Given the description of an element on the screen output the (x, y) to click on. 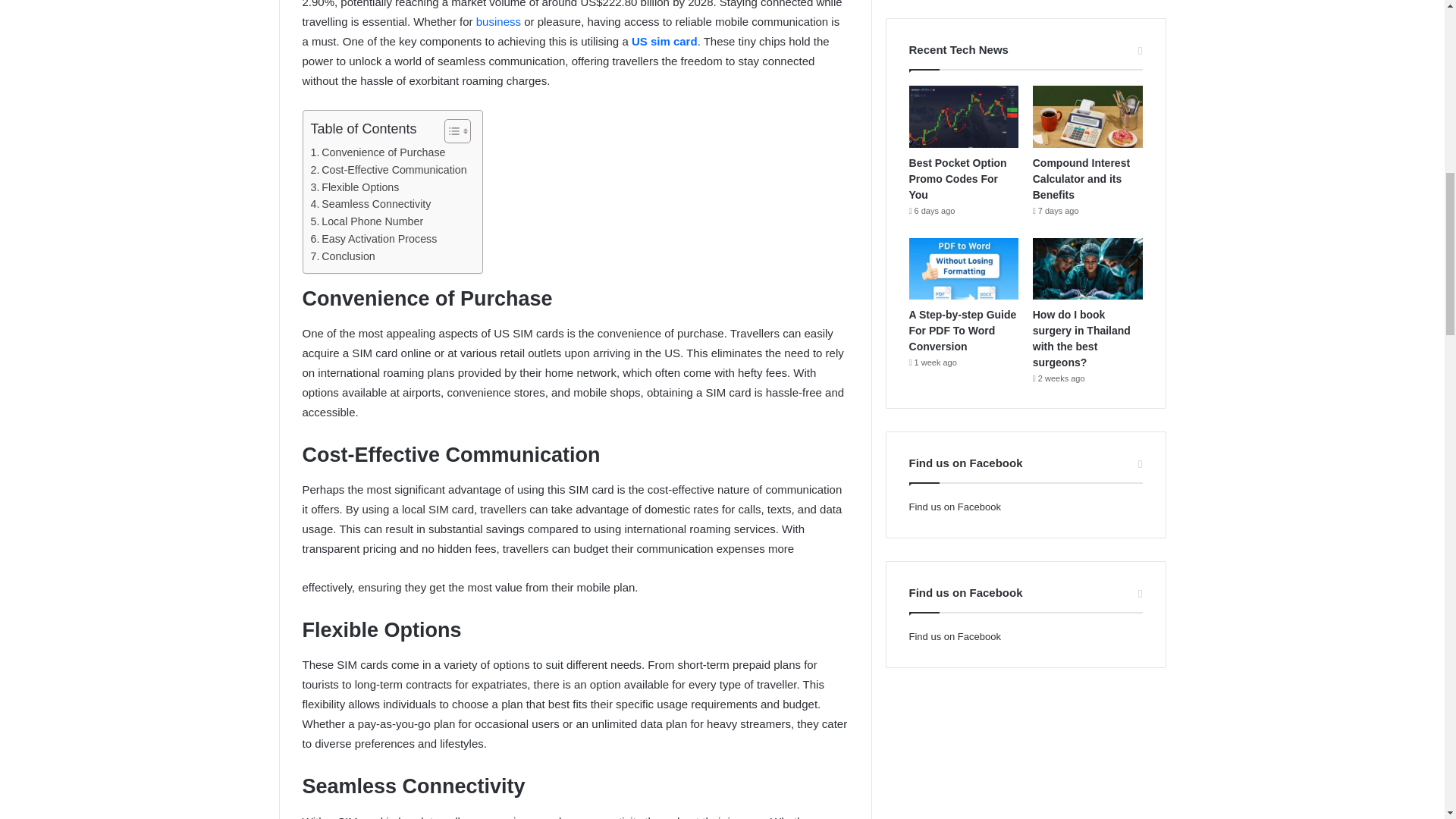
Flexible Options (354, 187)
Cost-Effective Communication (389, 170)
Convenience of Purchase (378, 152)
Local Phone Number (367, 221)
Local Phone Number (367, 221)
Easy Activation Process (374, 239)
Seamless Connectivity (370, 203)
Conclusion (343, 256)
business (498, 21)
Convenience of Purchase (378, 152)
